Given the description of an element on the screen output the (x, y) to click on. 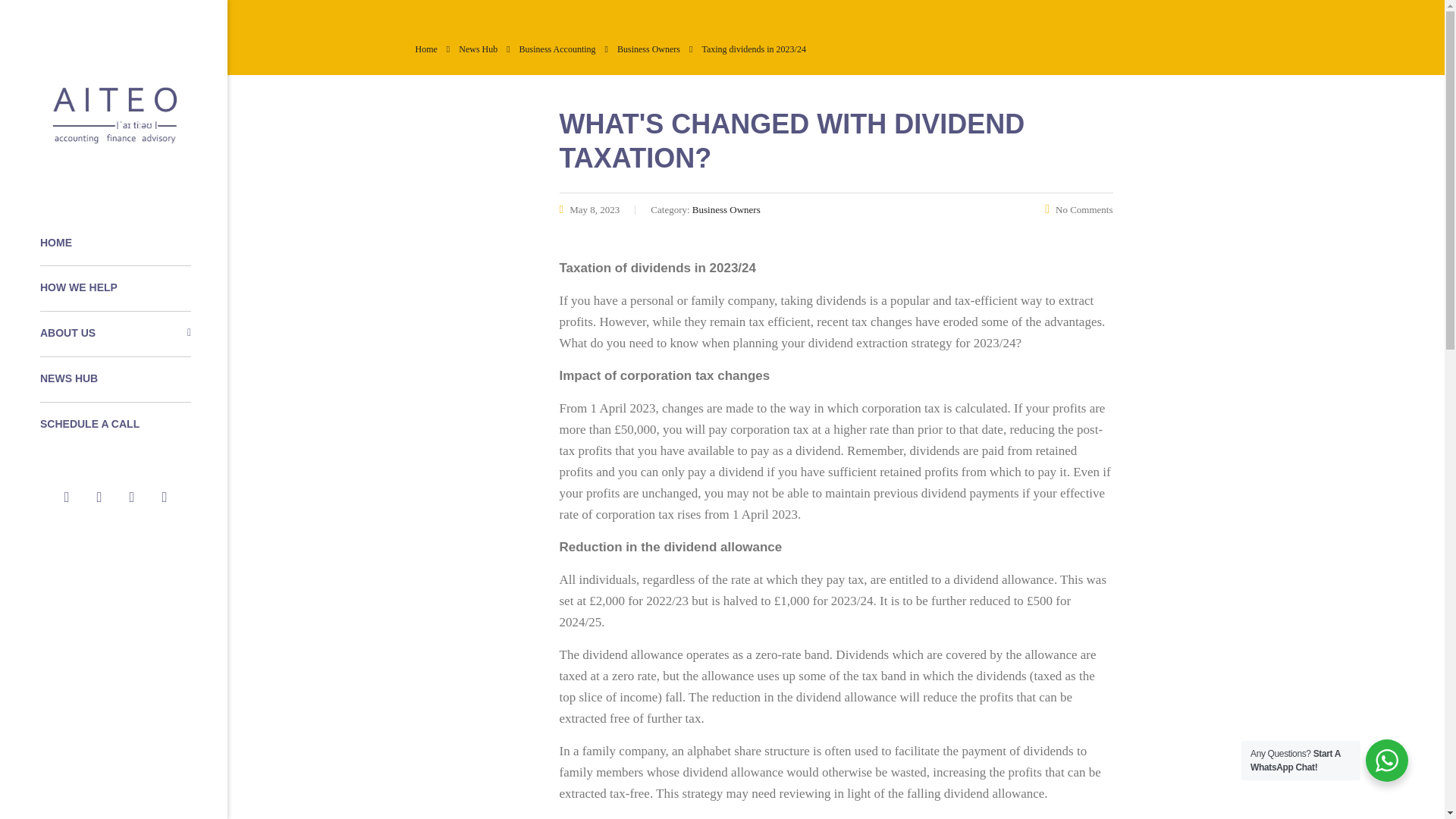
Home (426, 49)
Business Accounting (557, 49)
Go to the Business Owners category archives. (648, 49)
HOME (115, 242)
Go to the Business Accounting category archives. (557, 49)
ABOUT US (115, 333)
News Hub (477, 49)
HOW WE HELP (115, 288)
NEWS HUB (115, 379)
SCHEDULE A CALL (115, 424)
Go to News Hub. (477, 49)
Business Owners (648, 49)
Go to Aiteo Consulting. (426, 49)
No Comments (1078, 209)
